Given the description of an element on the screen output the (x, y) to click on. 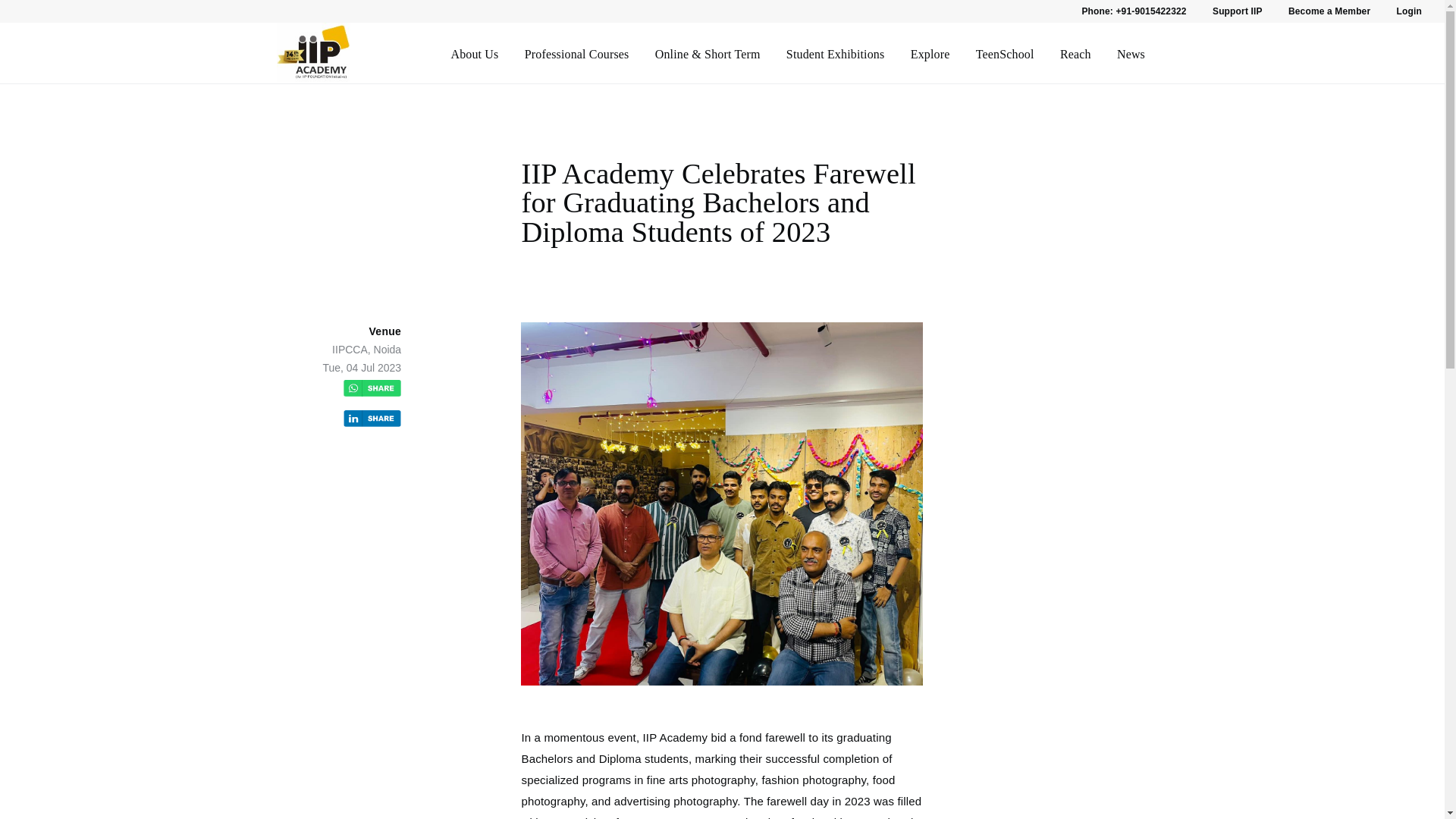
Login (1409, 11)
Professional Courses (576, 53)
Support IIP (1237, 11)
TeenSchool (1004, 53)
About Us (473, 53)
Student Exhibitions (835, 53)
Share on LinkedIn (372, 420)
Venue (384, 331)
Become a Member (1329, 11)
